Given the description of an element on the screen output the (x, y) to click on. 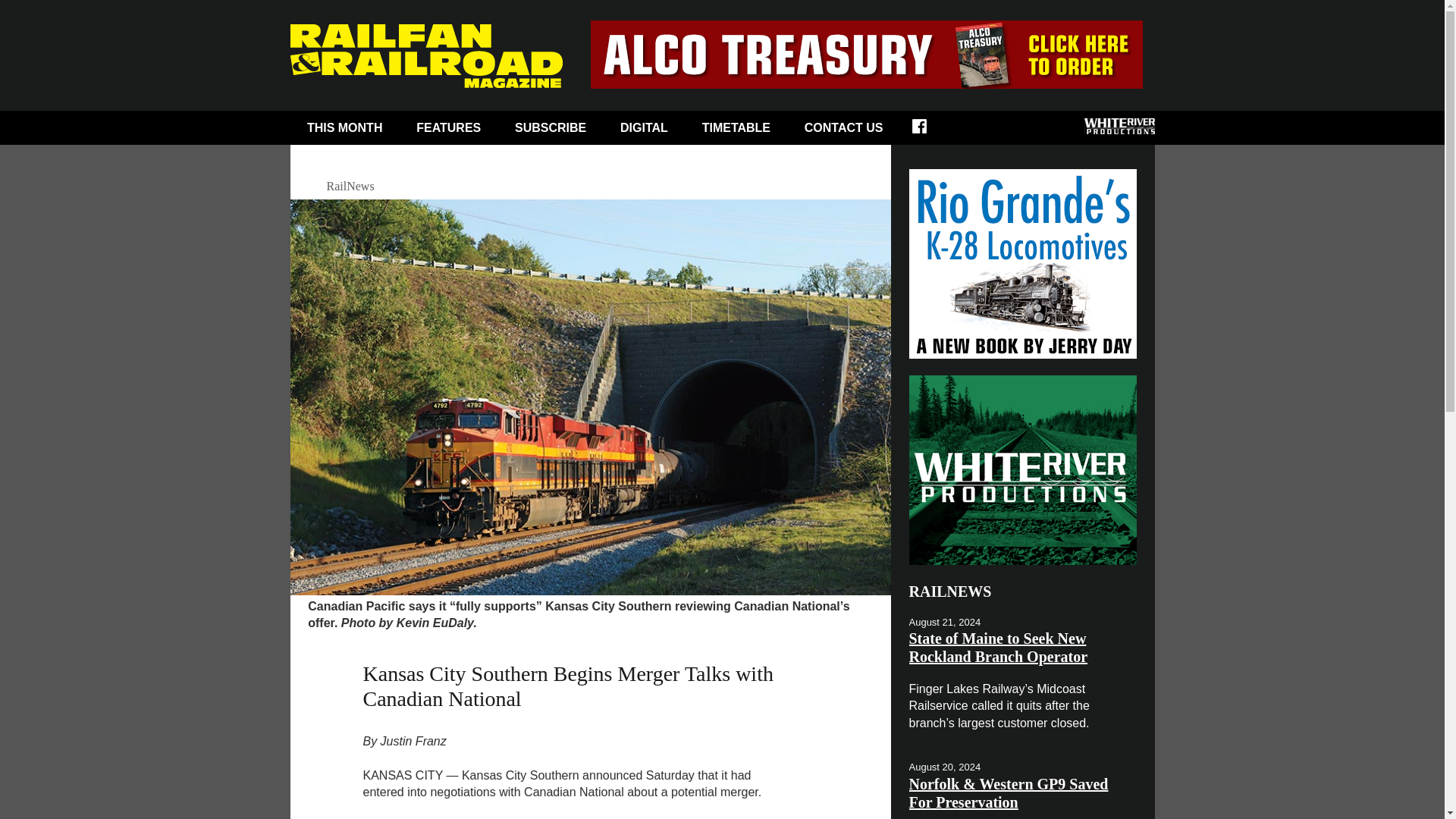
State of Maine to Seek New Rockland Branch Operator (997, 647)
THIS MONTH (343, 127)
SUBSCRIBE (550, 127)
FACEBOOK (929, 130)
FEATURES (447, 127)
CONTACT US (843, 127)
TIMETABLE (735, 127)
DIGITAL (644, 127)
